Given the description of an element on the screen output the (x, y) to click on. 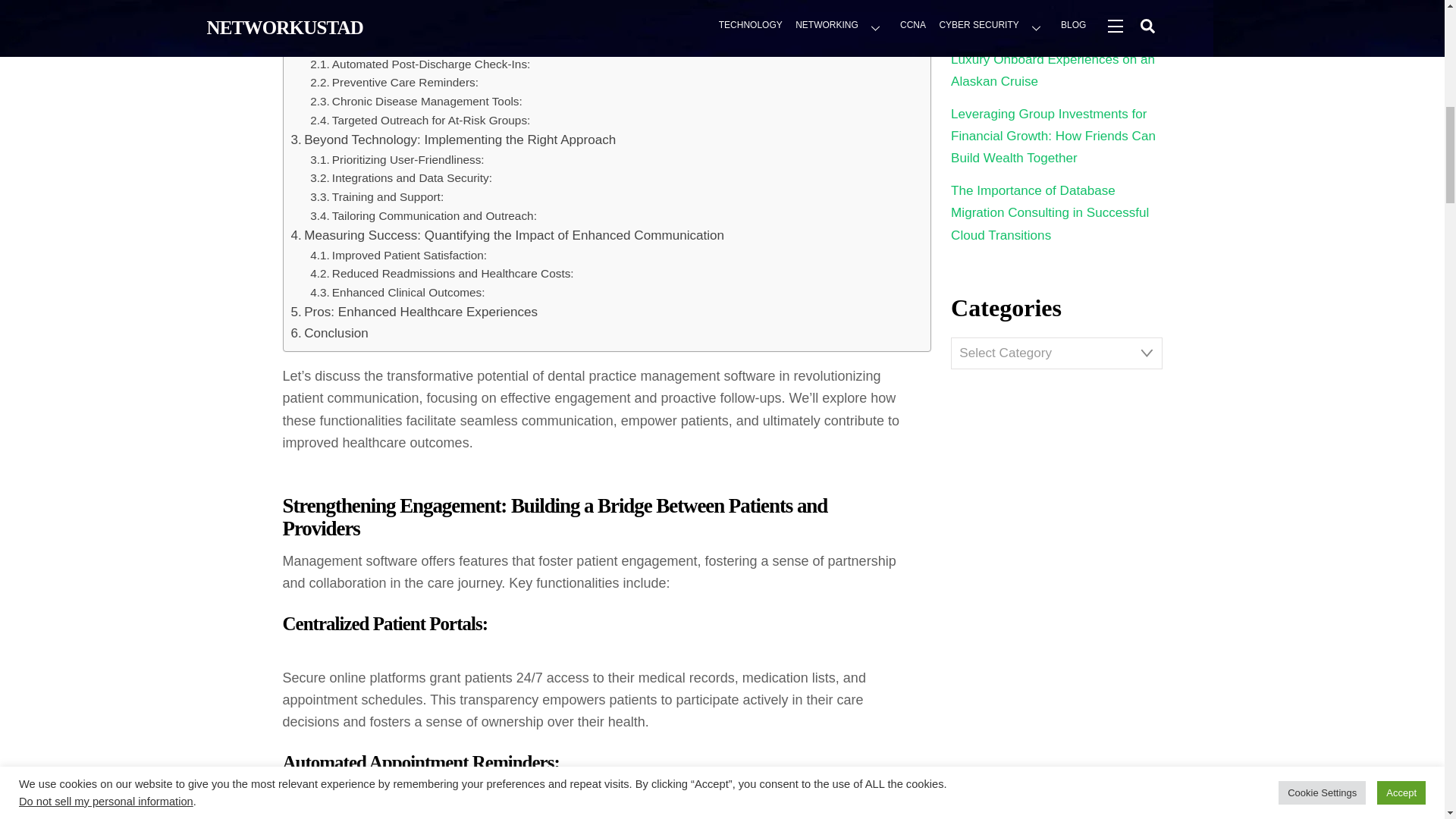
Targeted Outreach for At-Risk Groups: (419, 120)
Conclusion (329, 332)
Chronic Disease Management Tools: (416, 101)
Prioritizing User-Friendliness: (397, 159)
Automated Post-Discharge Check-Ins: (419, 64)
Educational Resources: (382, 25)
Beyond Technology: Implementing the Right Approach (453, 139)
Pros: Enhanced Healthcare Experiences (414, 312)
Two-Way Communication Channels: (414, 7)
